Given the description of an element on the screen output the (x, y) to click on. 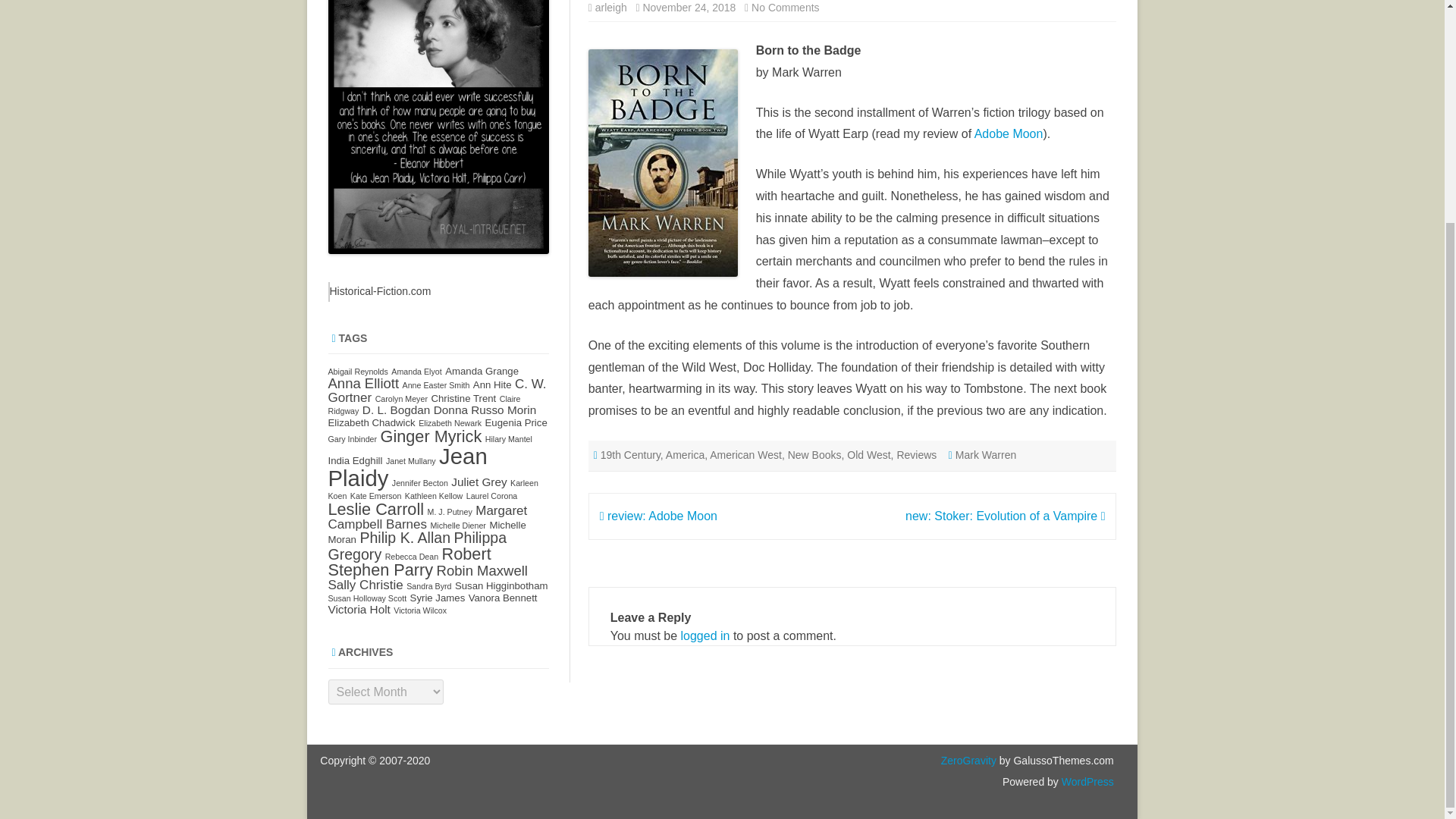
Abigail Reynolds (357, 370)
New Books (814, 454)
new: Stoker: Evolution of a Vampire (1005, 515)
Amanda Grange (481, 370)
Anna Elliott (362, 383)
Adobe Moon (1008, 133)
Reviews (916, 454)
America (684, 454)
review: Adobe Moon (658, 515)
logged in (705, 635)
Mark Warren (985, 454)
Semantic Personal Publishing Platform (1085, 781)
arleigh (611, 7)
Amanda Elyot (416, 370)
Historical-Fiction.com (379, 291)
